Given the description of an element on the screen output the (x, y) to click on. 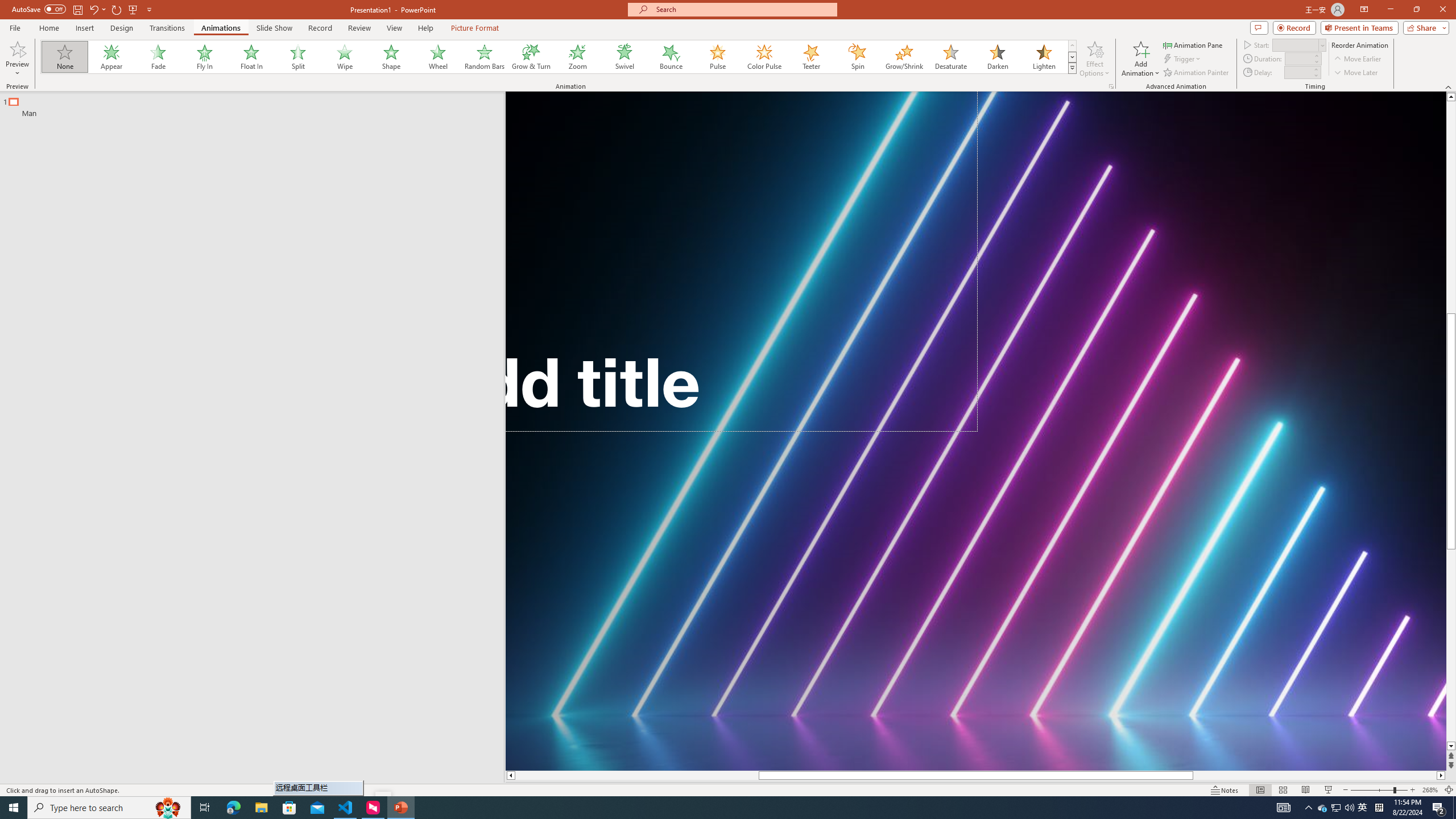
Spin (857, 56)
Float In (251, 56)
